Given the description of an element on the screen output the (x, y) to click on. 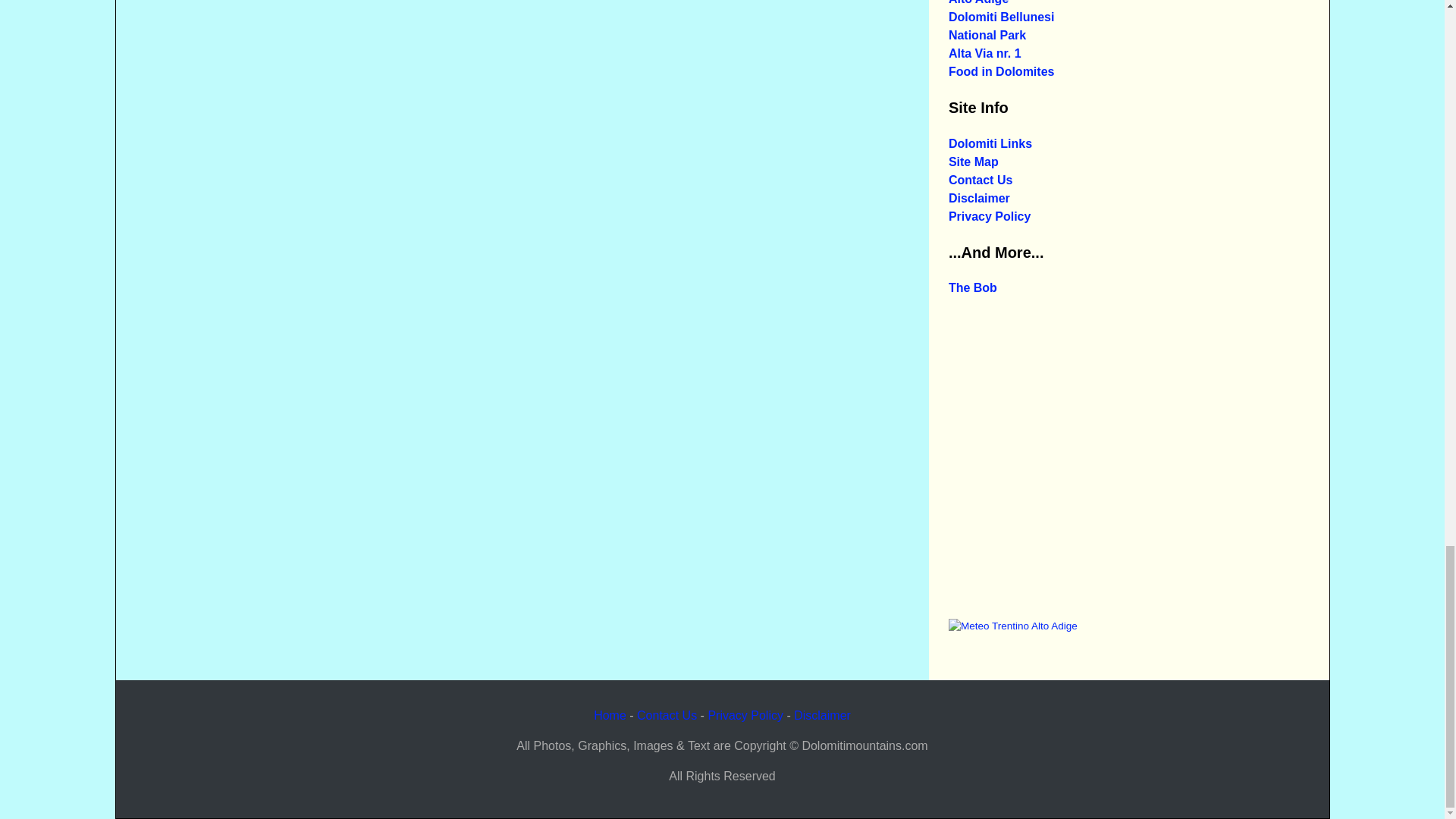
Meteo Trentino Alto Adige (1013, 625)
